Given the description of an element on the screen output the (x, y) to click on. 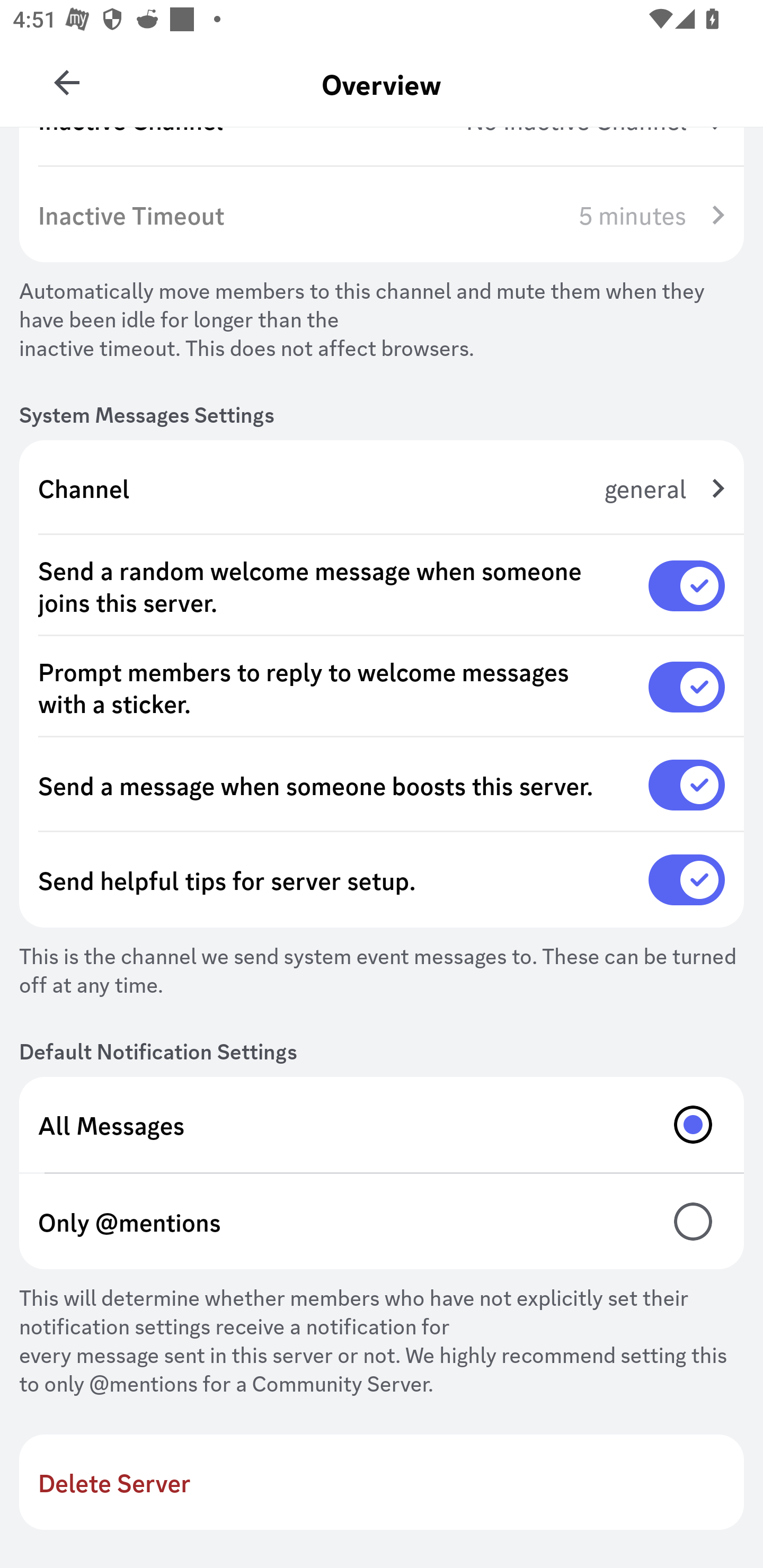
  Friends F (66, 75)
Channel, general Channel general (381, 488)
on (686, 585)
on (686, 686)
on (686, 784)
on (686, 879)
All Messages (381, 1124)
Only @mentions (381, 1221)
Delete Server (381, 1482)
